Given the description of an element on the screen output the (x, y) to click on. 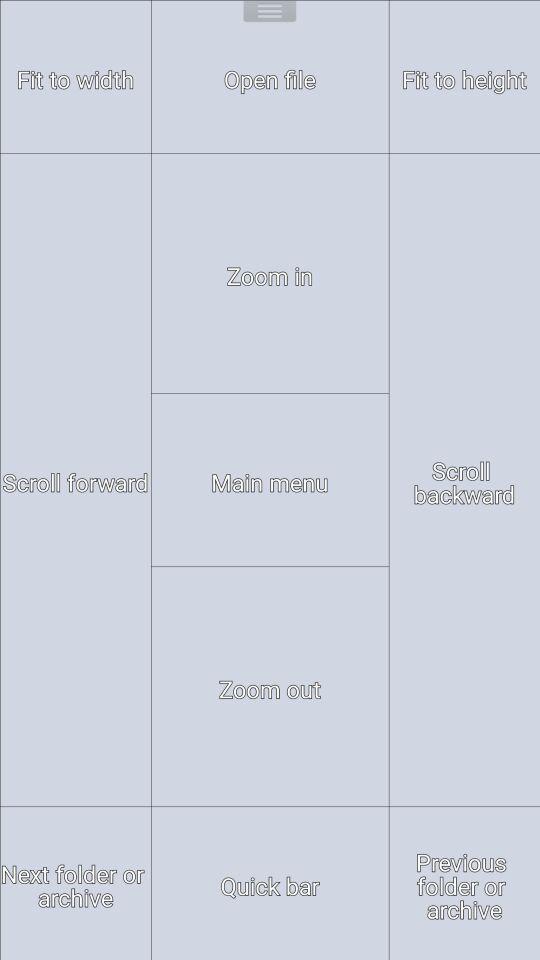
see options (269, 14)
